Given the description of an element on the screen output the (x, y) to click on. 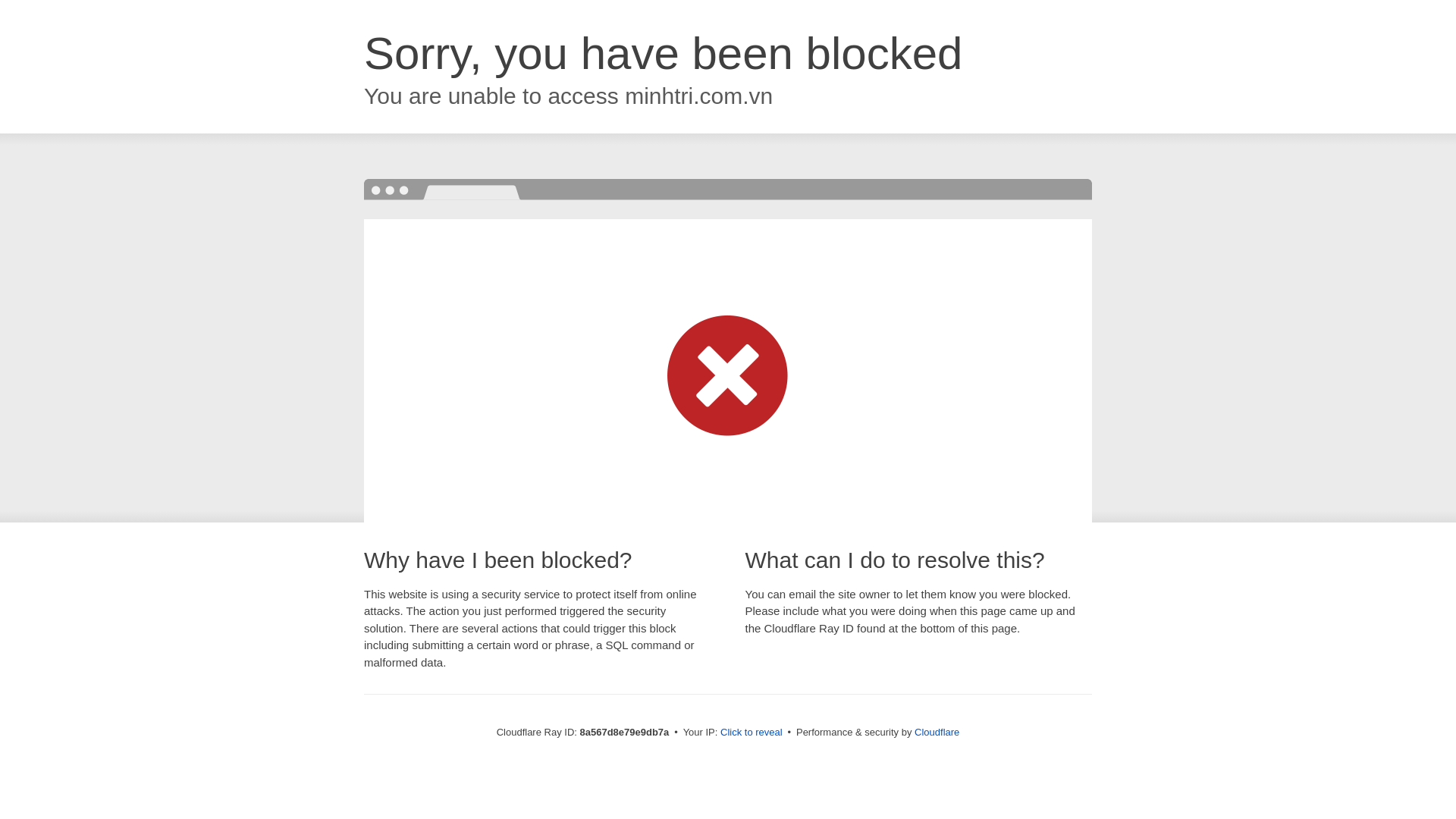
Click to reveal (751, 732)
Cloudflare (936, 731)
